Given the description of an element on the screen output the (x, y) to click on. 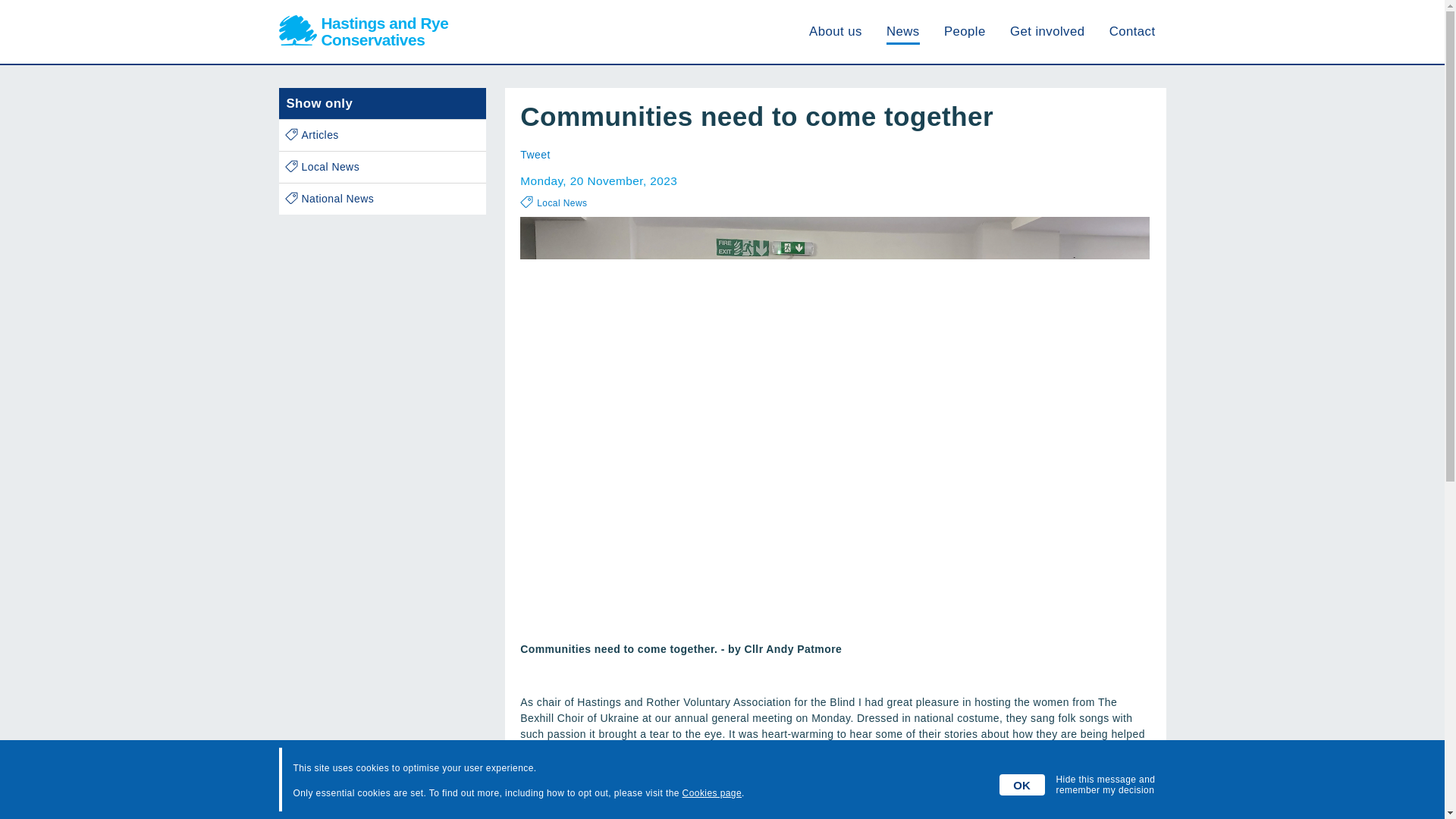
OK (1021, 784)
Cookies page (363, 31)
News (711, 792)
People (903, 31)
Tweet (964, 31)
Local News (534, 154)
About us (382, 166)
Articles (835, 31)
Contact (382, 134)
Local News (1132, 31)
National News (561, 203)
Skip to main content (382, 198)
